Given the description of an element on the screen output the (x, y) to click on. 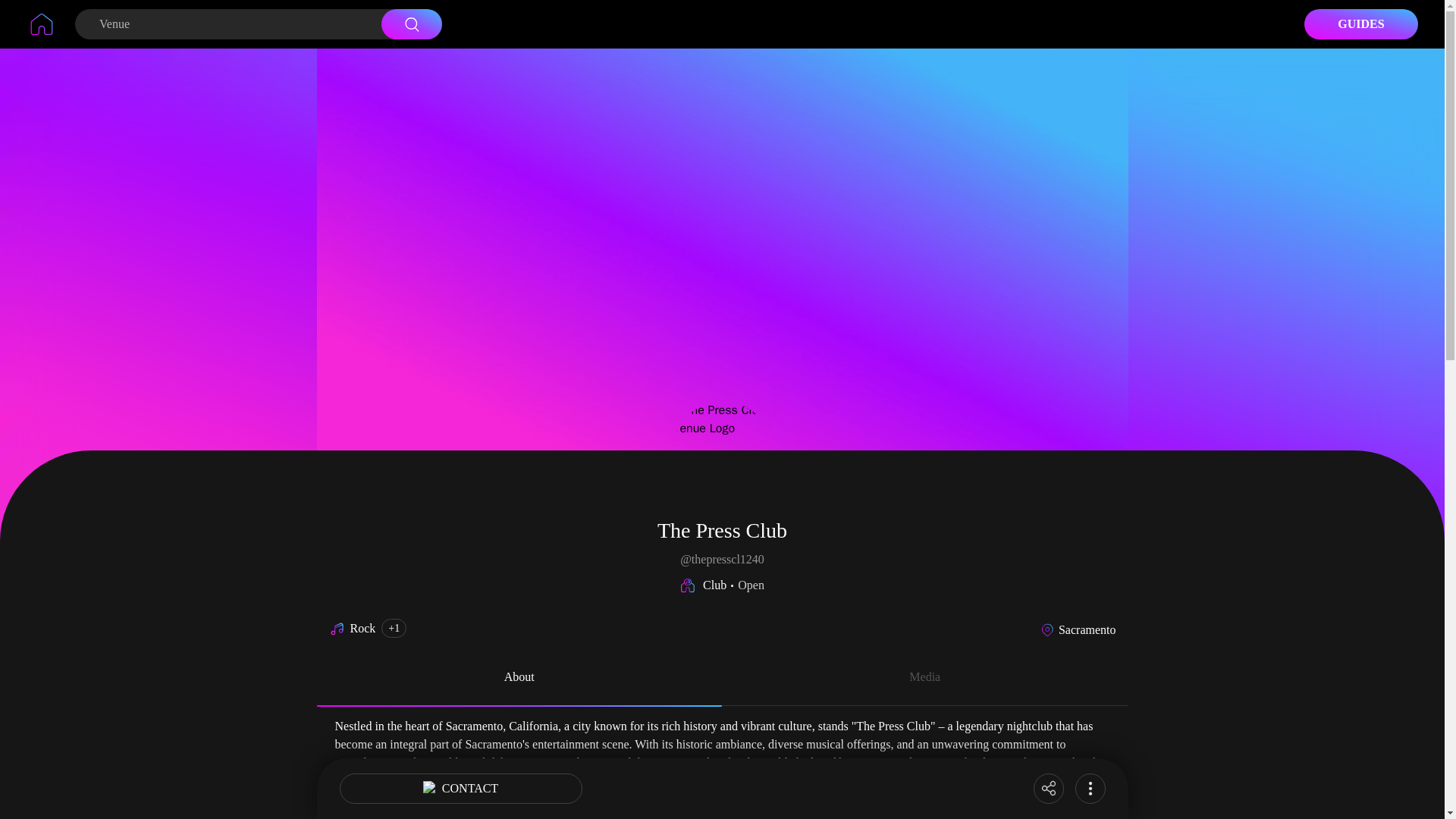
About (519, 678)
Media (924, 678)
GUIDES (1361, 24)
